Given the description of an element on the screen output the (x, y) to click on. 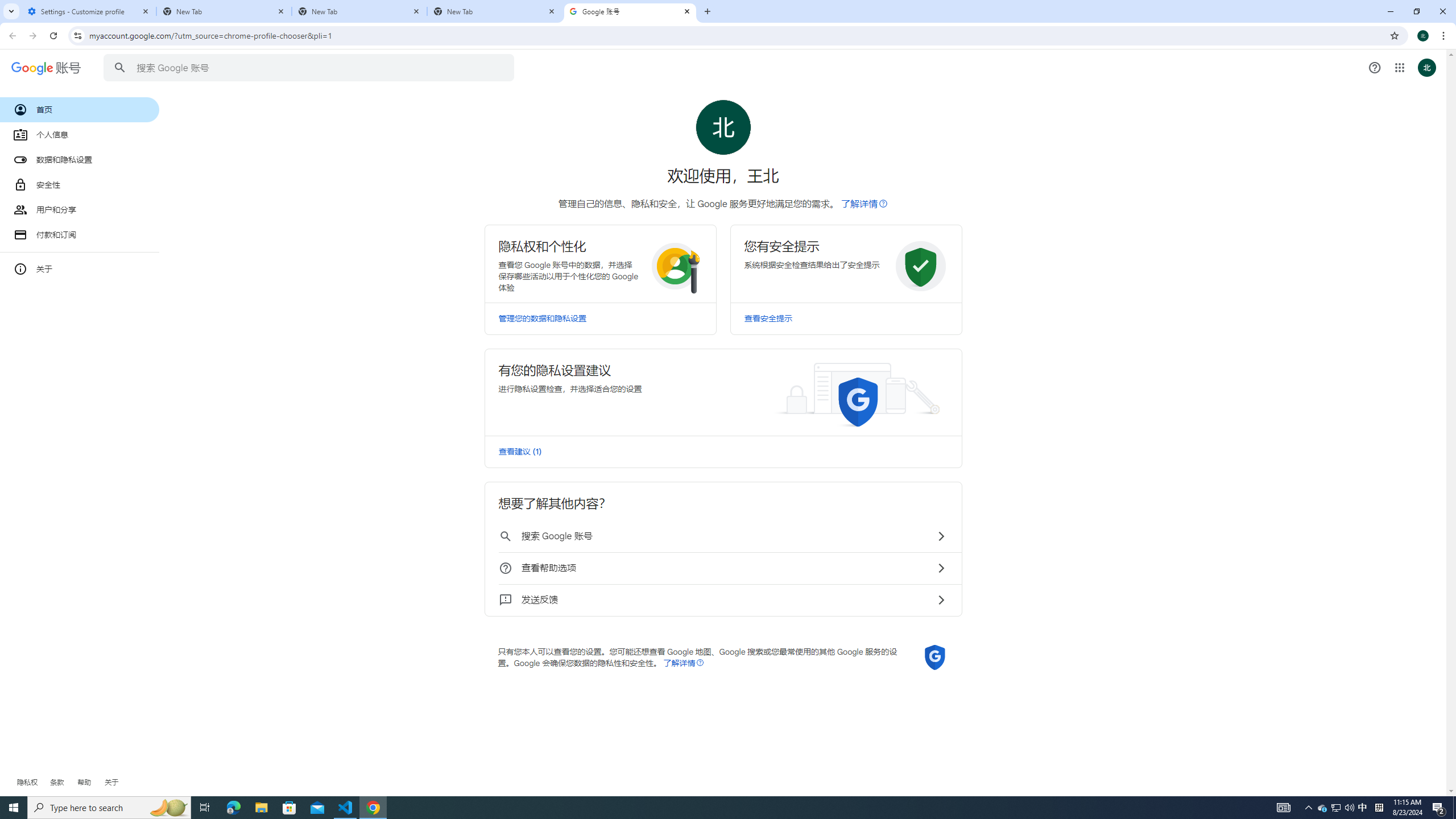
Minimize (1390, 11)
